Given the description of an element on the screen output the (x, y) to click on. 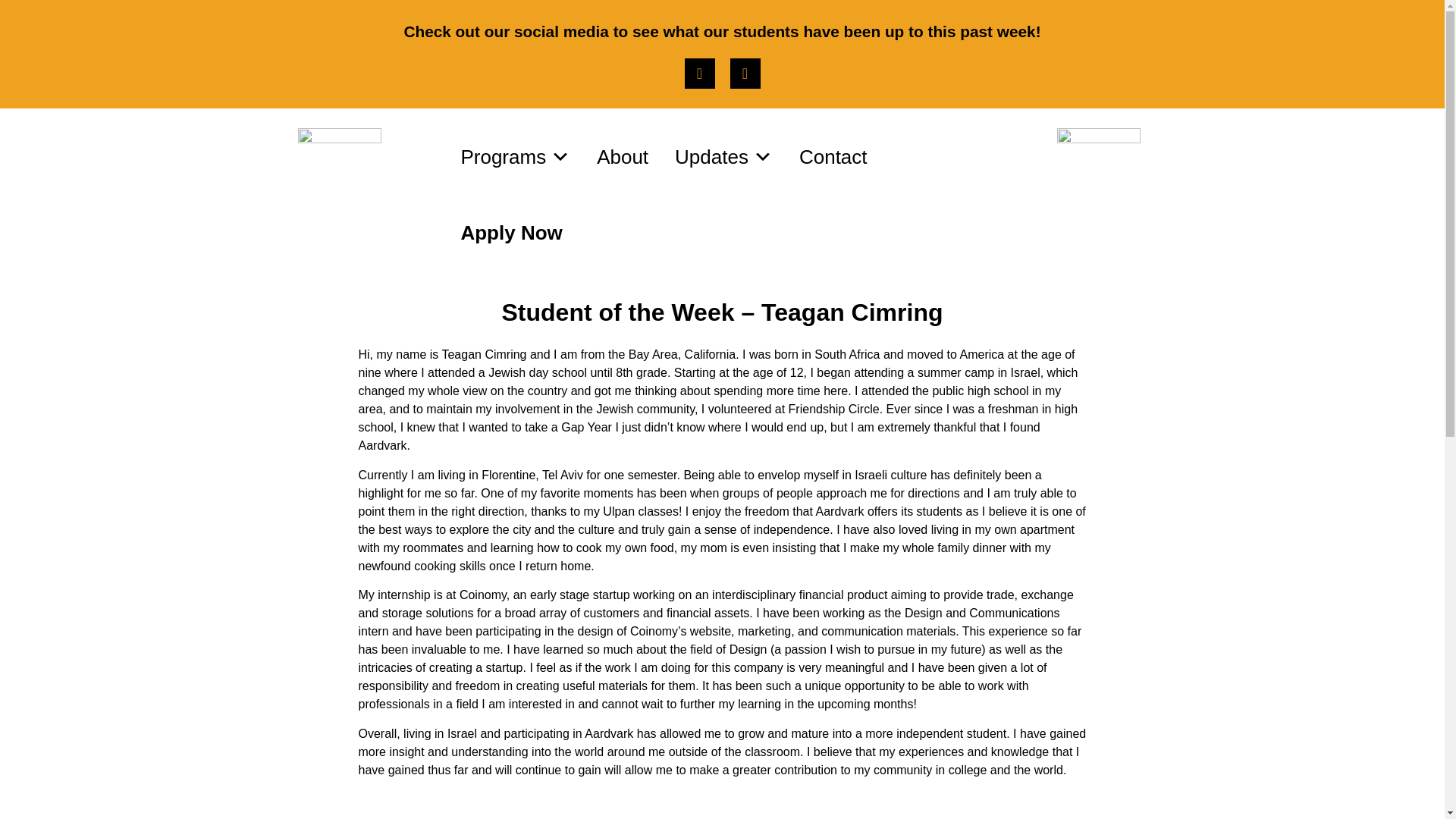
Apply Now (510, 232)
Updates (723, 156)
Programs (515, 156)
Contact (833, 156)
